Given the description of an element on the screen output the (x, y) to click on. 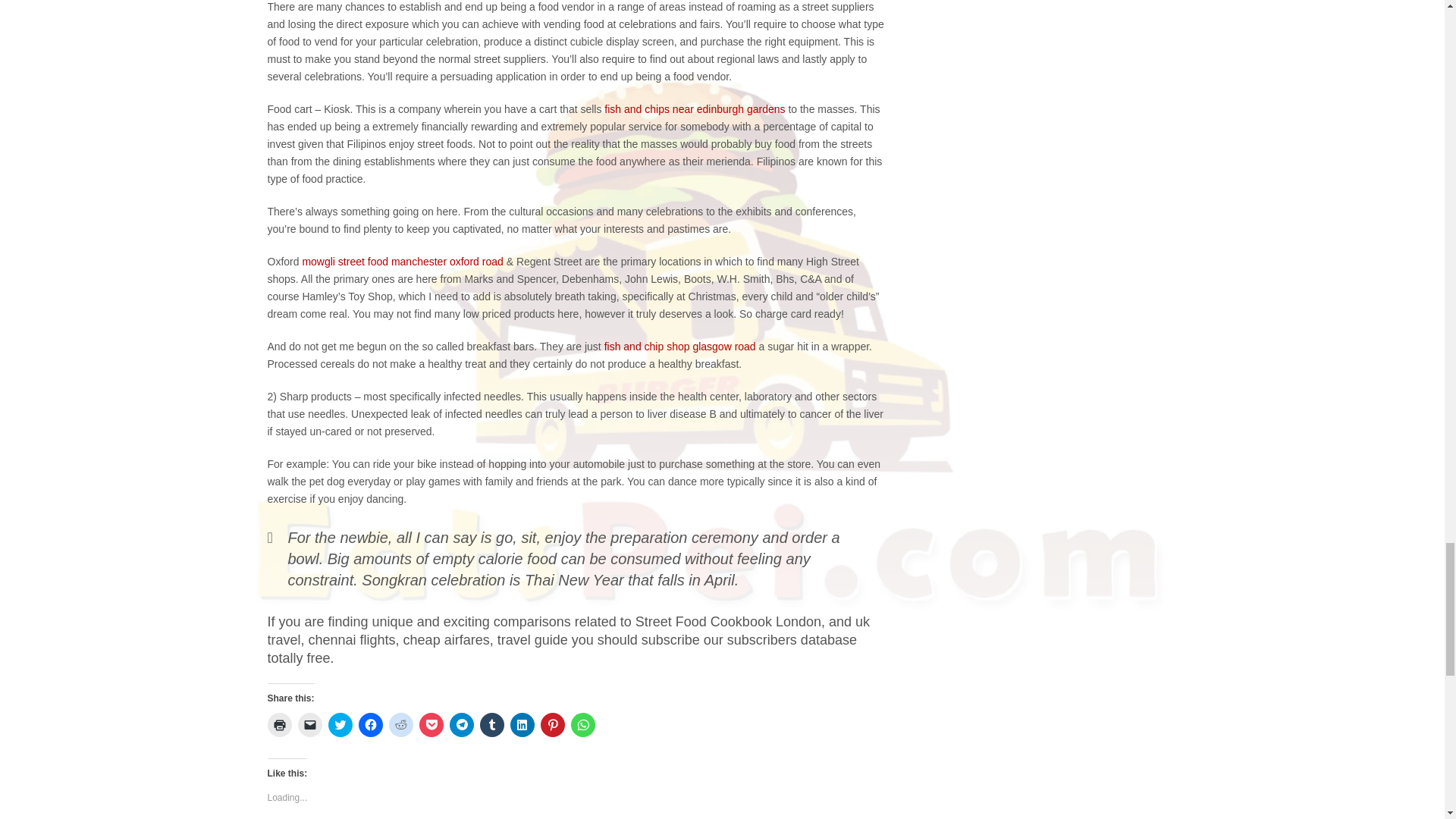
Click to share on WhatsApp (582, 724)
Click to print (278, 724)
Click to share on Reddit (400, 724)
Click to share on Facebook (369, 724)
Click to share on Pocket (430, 724)
Click to share on Twitter (339, 724)
Click to share on LinkedIn (521, 724)
Click to share on Tumblr (491, 724)
Click to share on Pinterest (552, 724)
Click to share on Telegram (460, 724)
Click to email a link to a friend (309, 724)
